Given the description of an element on the screen output the (x, y) to click on. 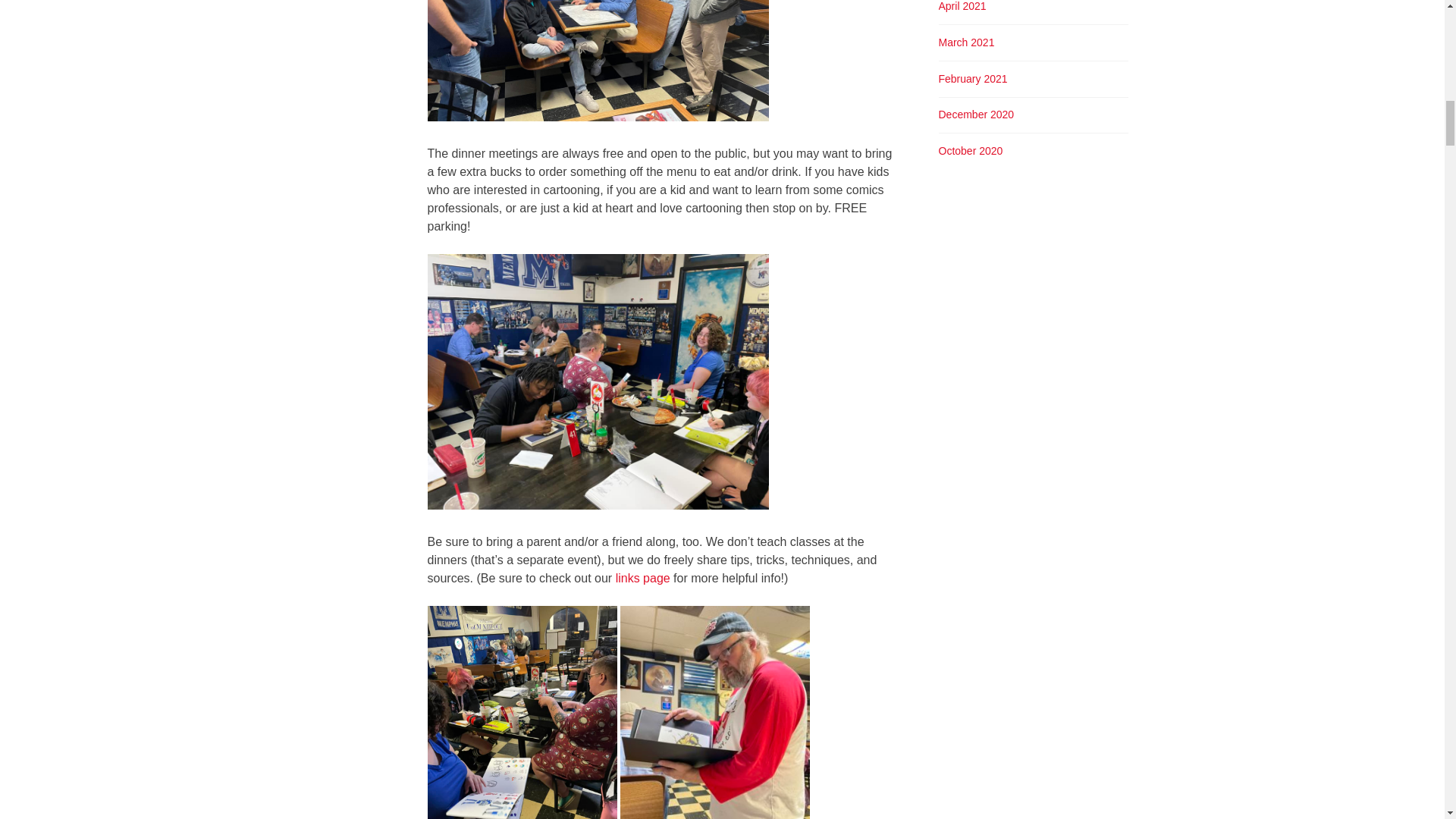
links page (642, 577)
